Given the description of an element on the screen output the (x, y) to click on. 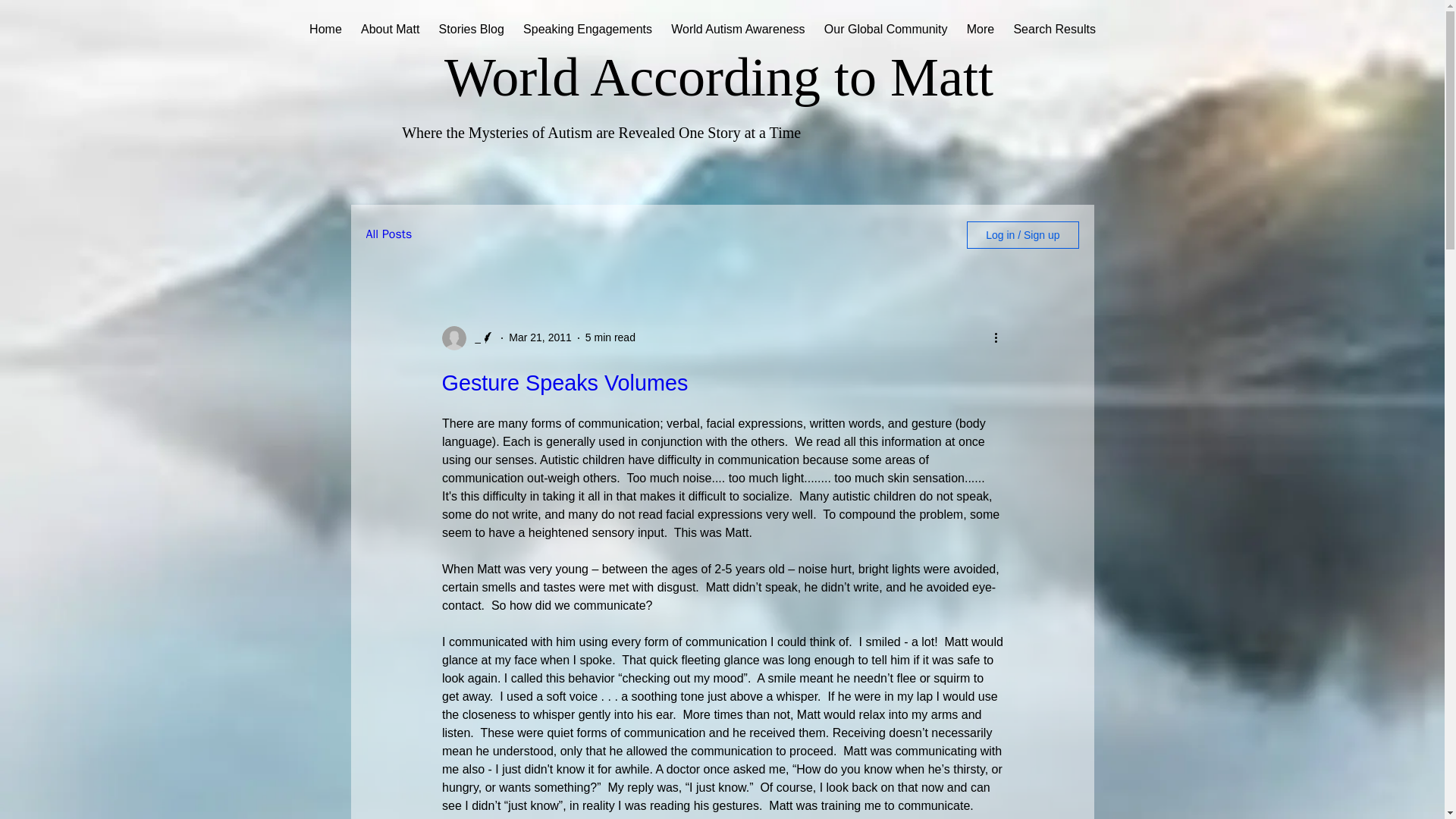
All Posts (388, 234)
World Autism Awareness (738, 29)
About Matt (389, 29)
Stories Blog (471, 29)
Mar 21, 2011 (540, 337)
Speaking Engagements (587, 29)
Search Results (1054, 29)
Our Global Community (884, 29)
5 min read (609, 337)
Home (325, 29)
More (980, 29)
